Given the description of an element on the screen output the (x, y) to click on. 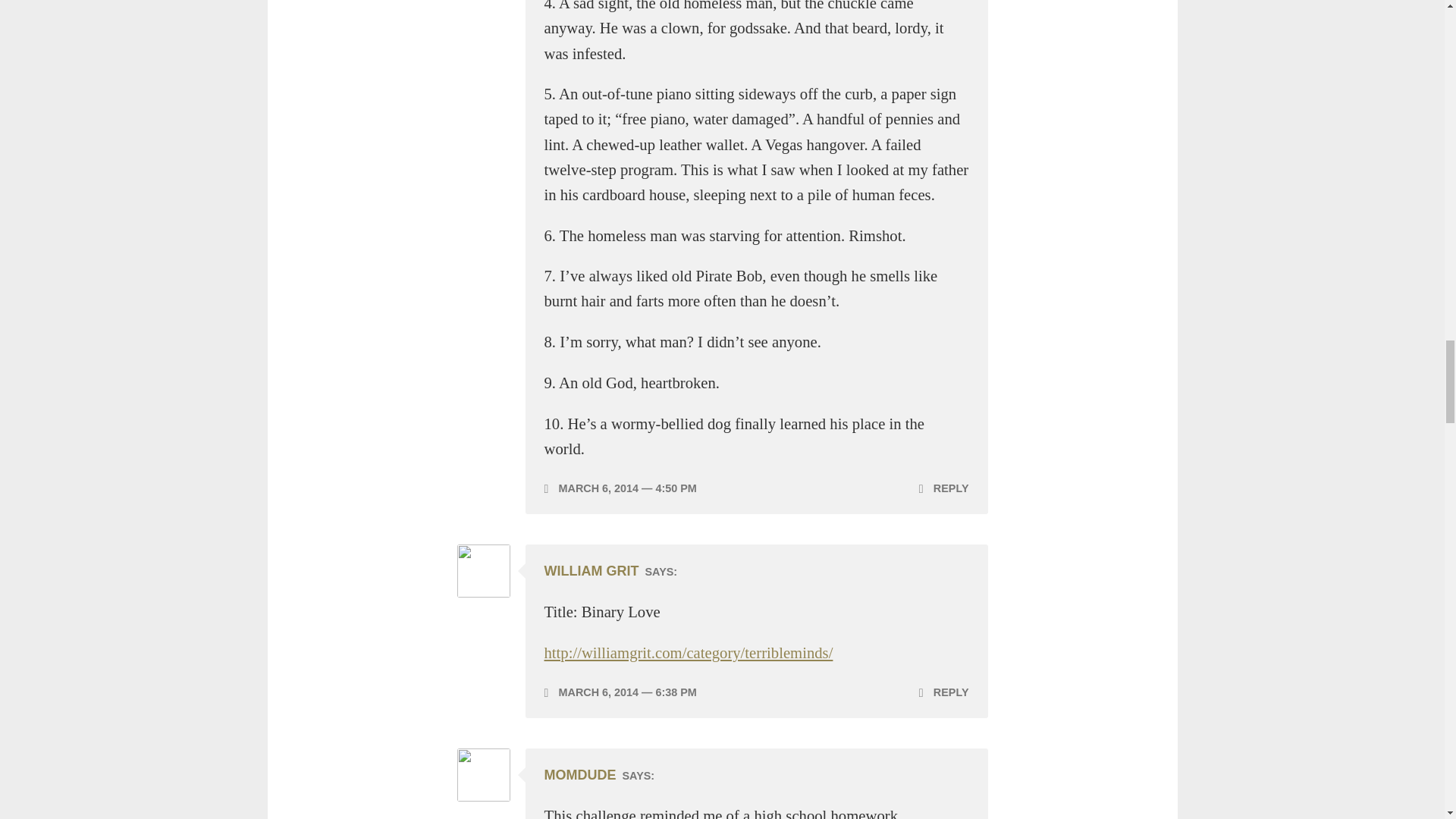
WILLIAM GRIT (591, 570)
REPLY (943, 488)
